Given the description of an element on the screen output the (x, y) to click on. 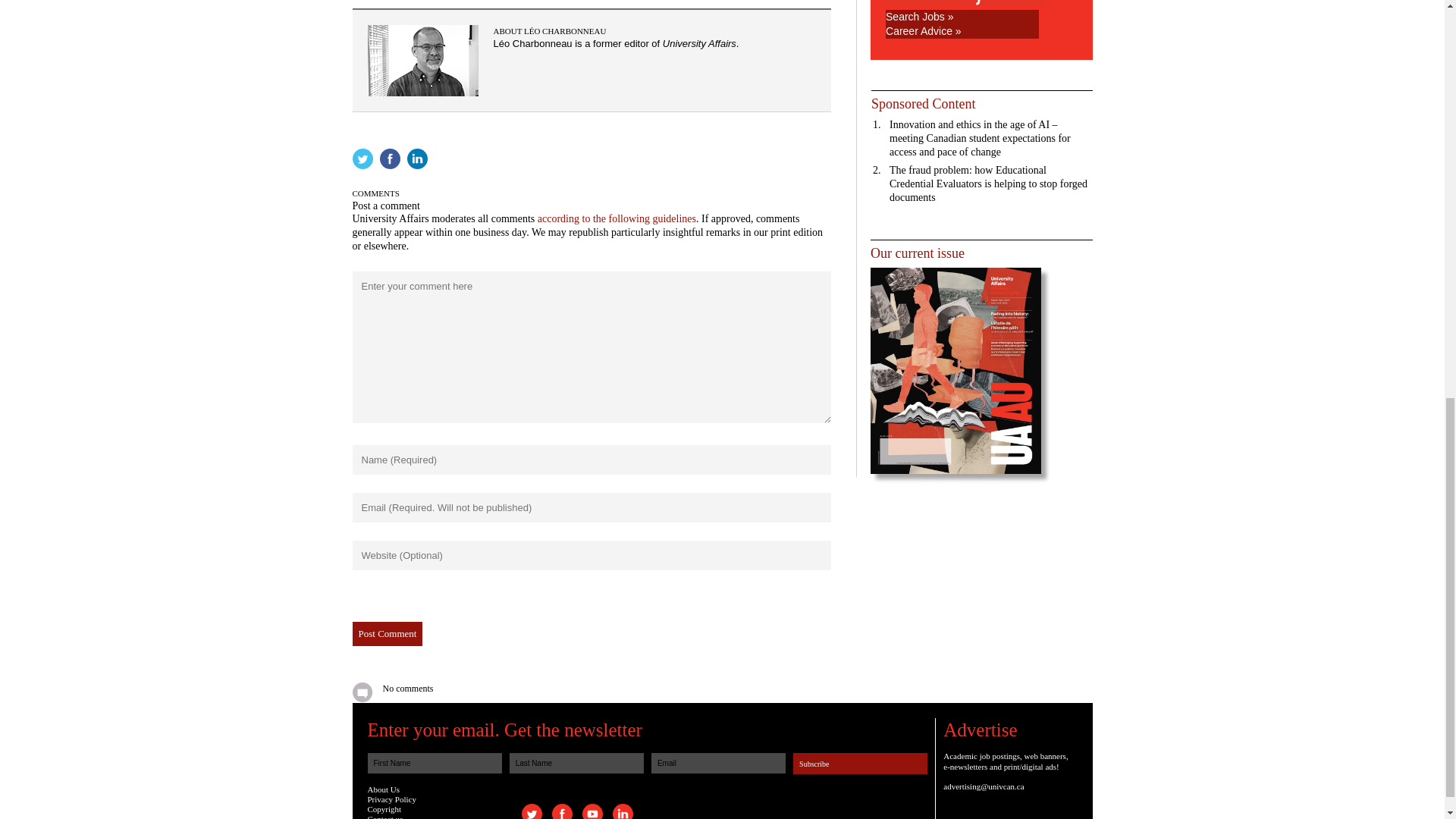
Subscribe (860, 762)
Post Comment (387, 633)
